Given the description of an element on the screen output the (x, y) to click on. 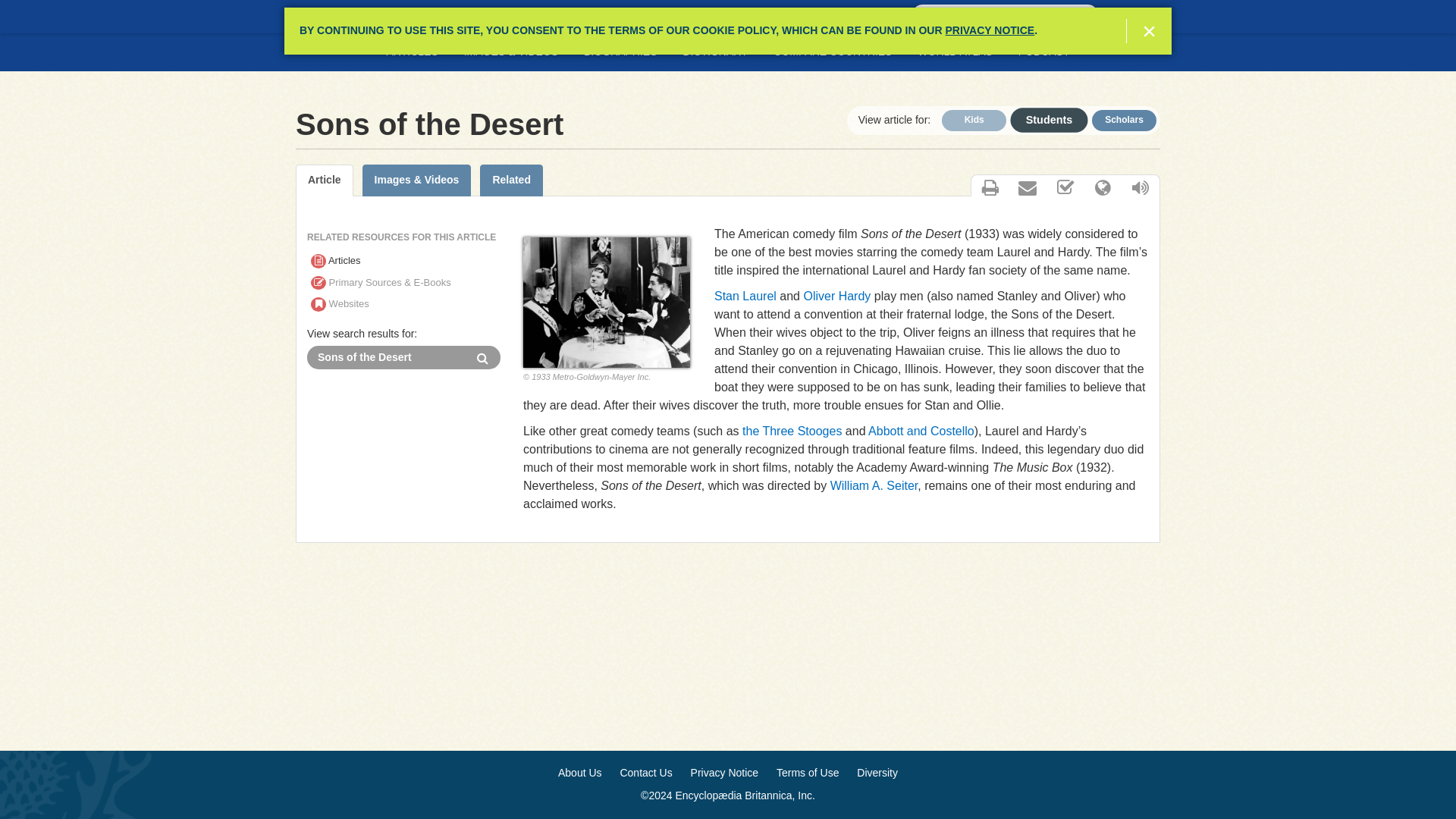
STUDENTS (342, 16)
Laurel and Hardy (606, 302)
Sons of the Desert (386, 357)
Sons of the Desert (386, 357)
